Given the description of an element on the screen output the (x, y) to click on. 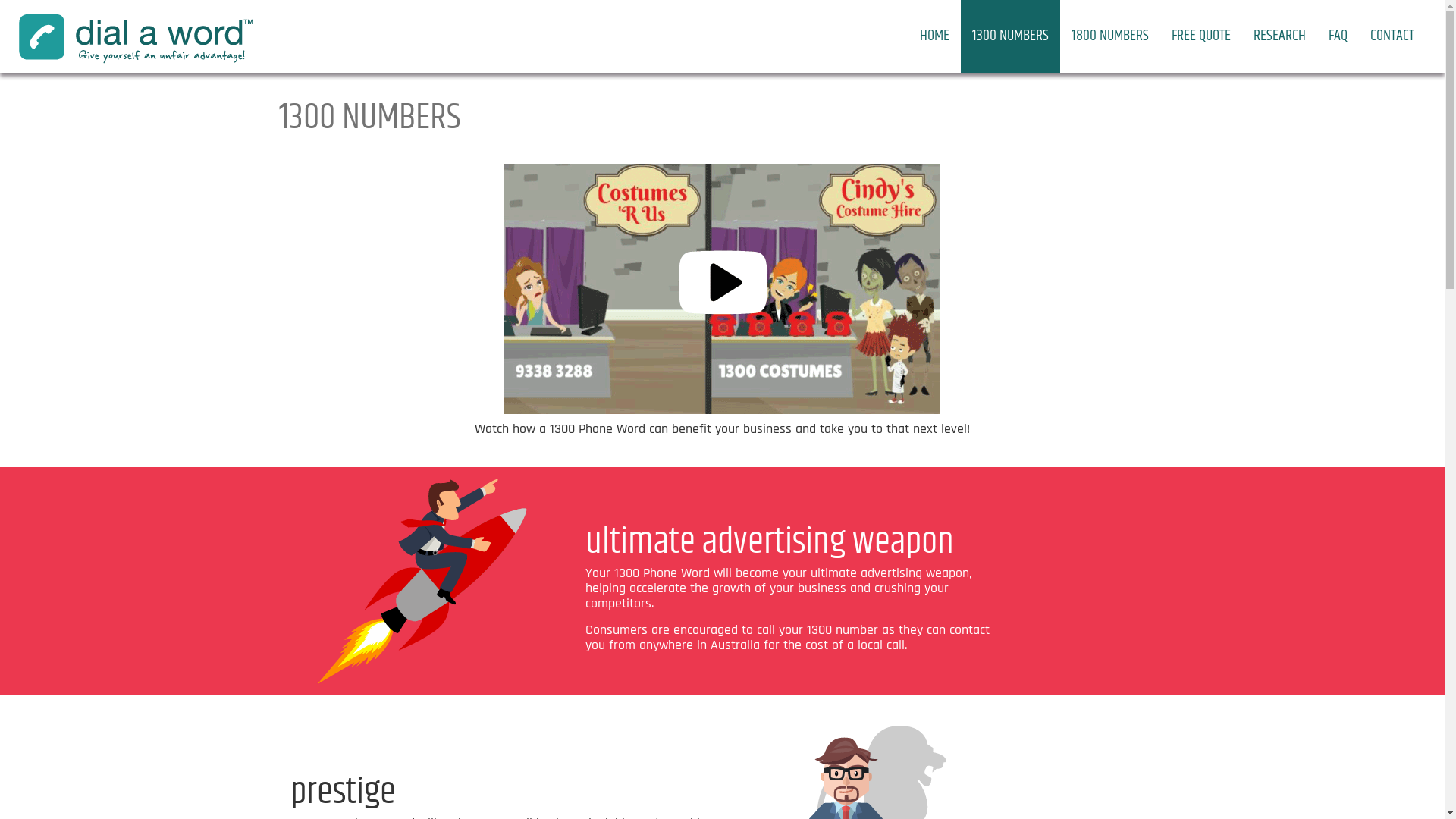
FAQ Element type: text (1337, 36)
1300 NUMBERS Element type: text (1010, 36)
CONTACT Element type: text (1391, 36)
1800 NUMBERS Element type: text (1110, 36)
RESEARCH Element type: text (1279, 36)
FREE QUOTE Element type: text (1201, 36)
HOME Element type: text (934, 36)
